Given the description of an element on the screen output the (x, y) to click on. 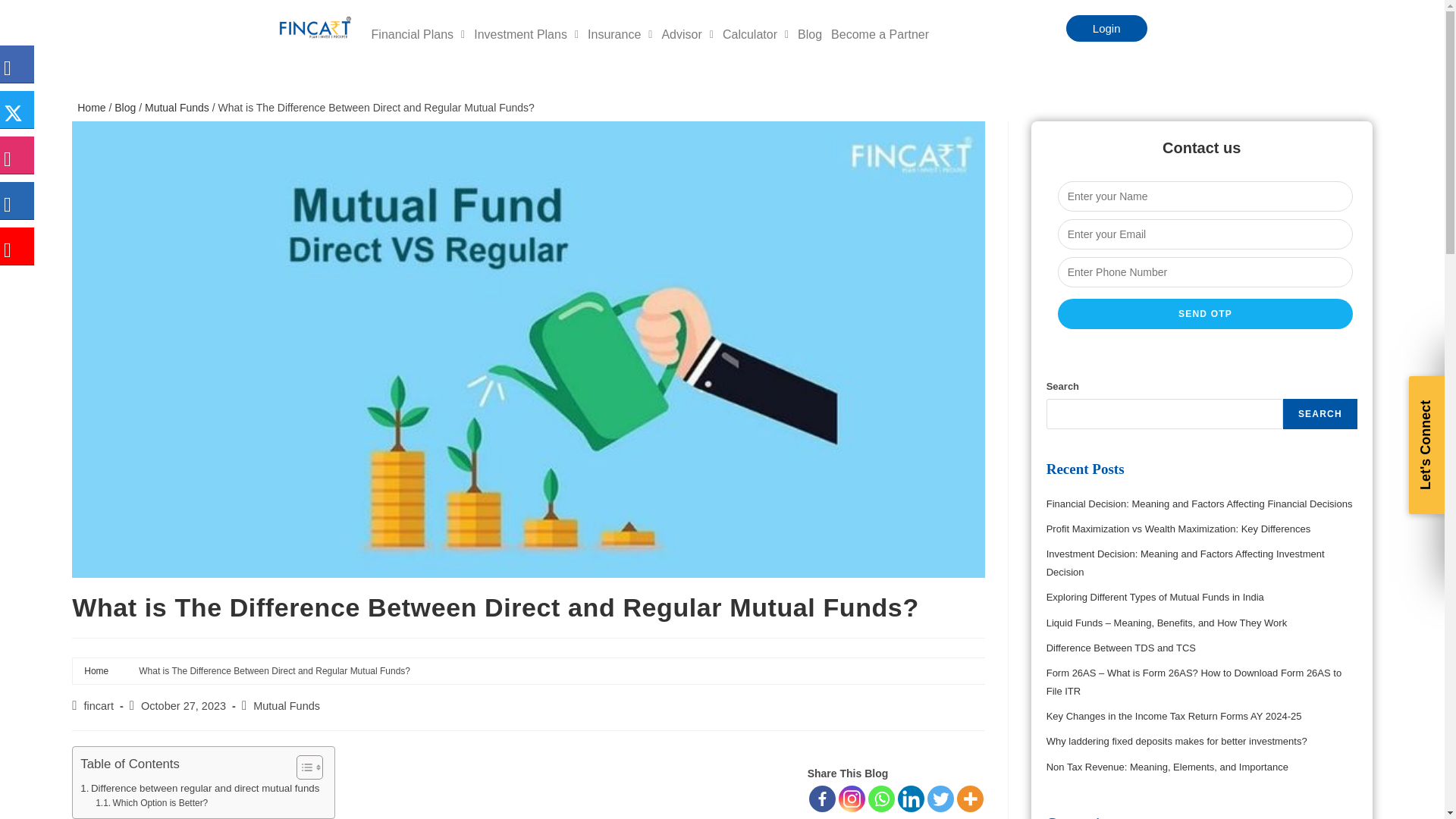
Which Option is Better? (152, 803)
Whatsapp (881, 798)
Posts by fincart (97, 705)
Become a Partner (880, 34)
Investment Plans (525, 34)
Financial Plans (418, 34)
Linkedin (911, 798)
Instagram (851, 798)
Difference between regular and direct mutual funds (199, 788)
Advisor (686, 34)
Calculator (755, 34)
Send OTP (1206, 313)
Facebook (822, 798)
Insurance (619, 34)
More (970, 798)
